Given the description of an element on the screen output the (x, y) to click on. 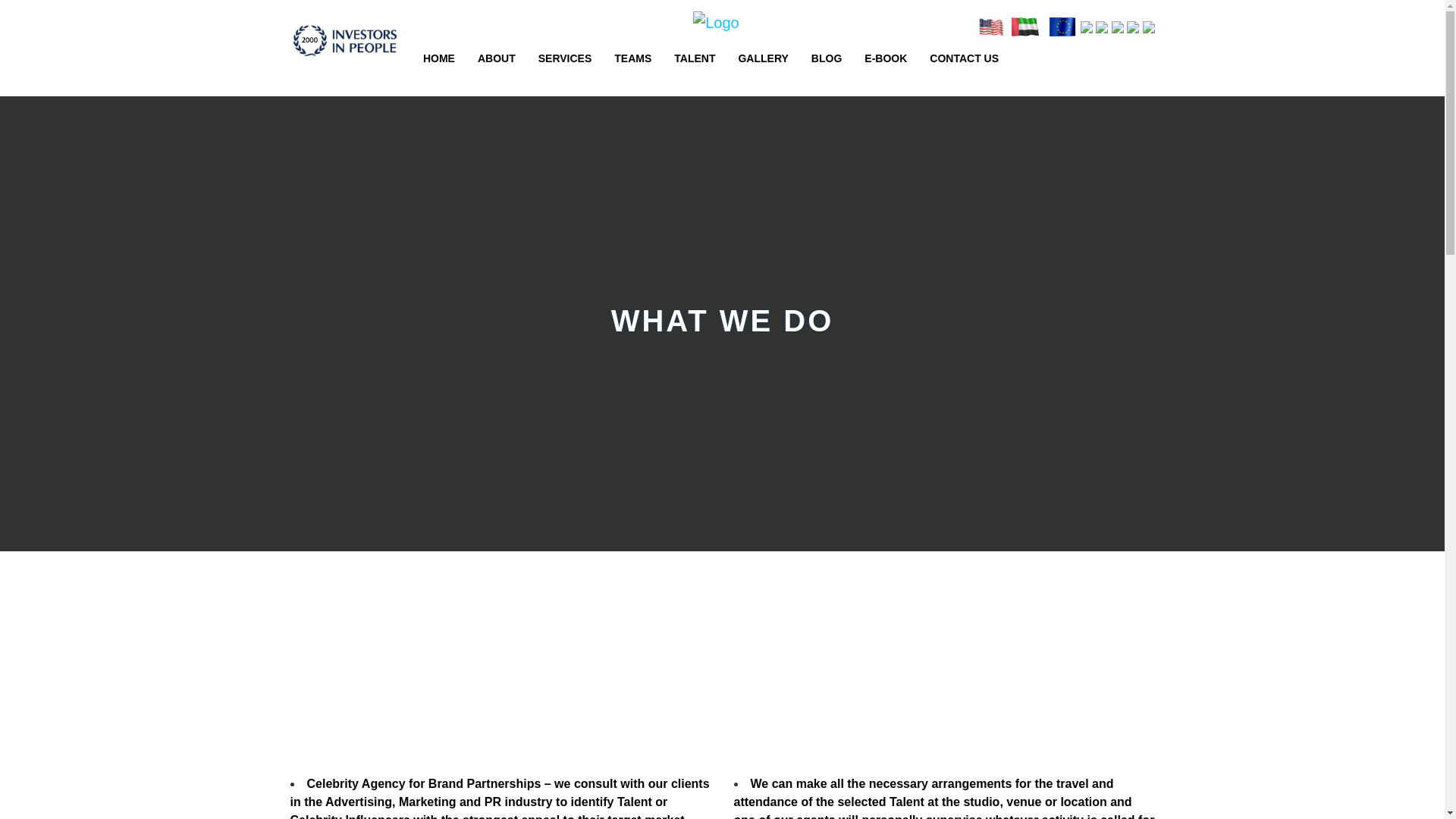
HOME (438, 58)
TALENT (694, 58)
E-BOOK (885, 58)
TEAMS (633, 58)
ABOUT (496, 58)
CONTACT US (963, 58)
SERVICES (565, 58)
BLOG (825, 58)
GALLERY (762, 58)
